Given the description of an element on the screen output the (x, y) to click on. 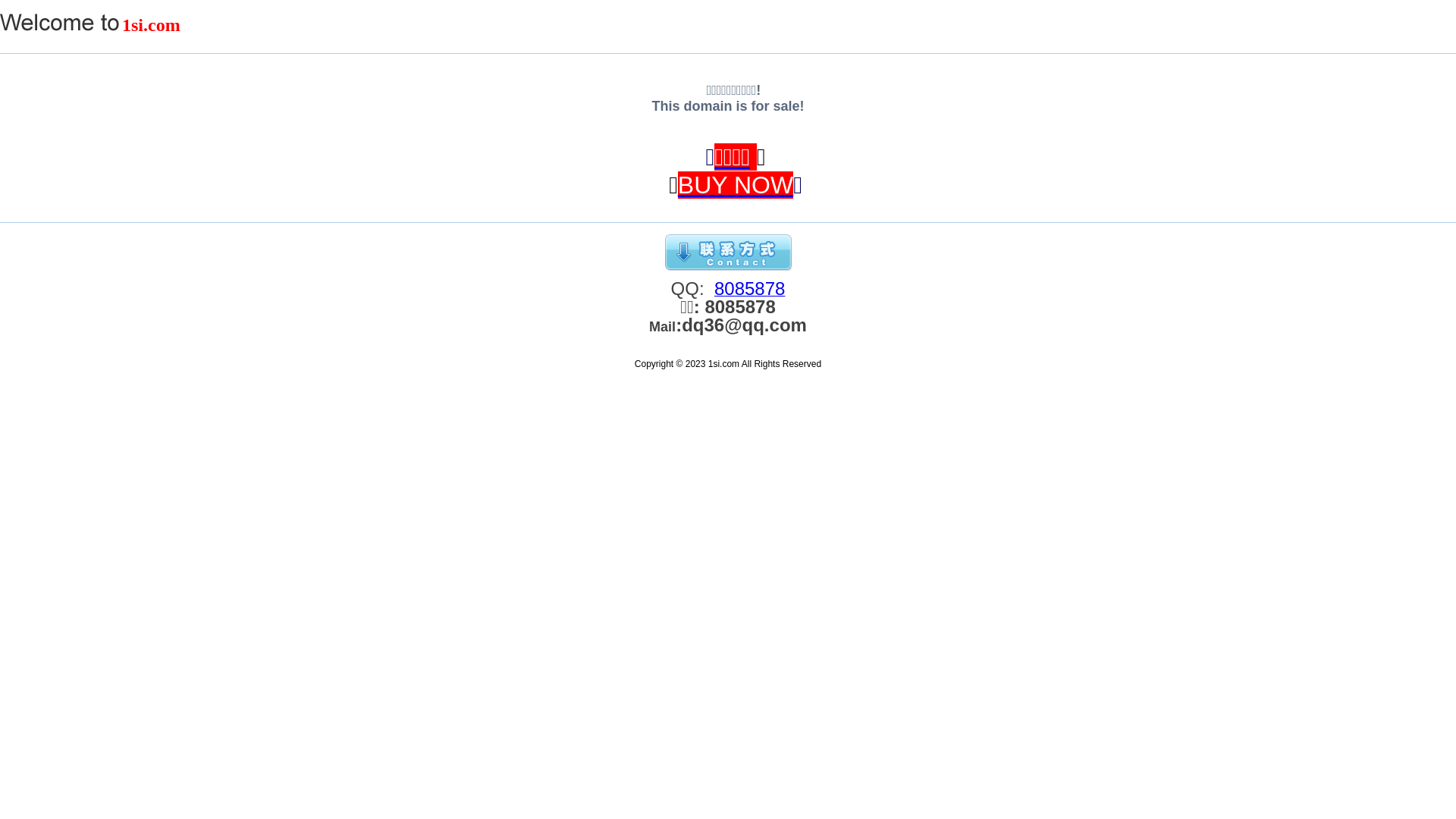
8085878 Element type: text (749, 291)
BUY NOW Element type: text (735, 184)
